Given the description of an element on the screen output the (x, y) to click on. 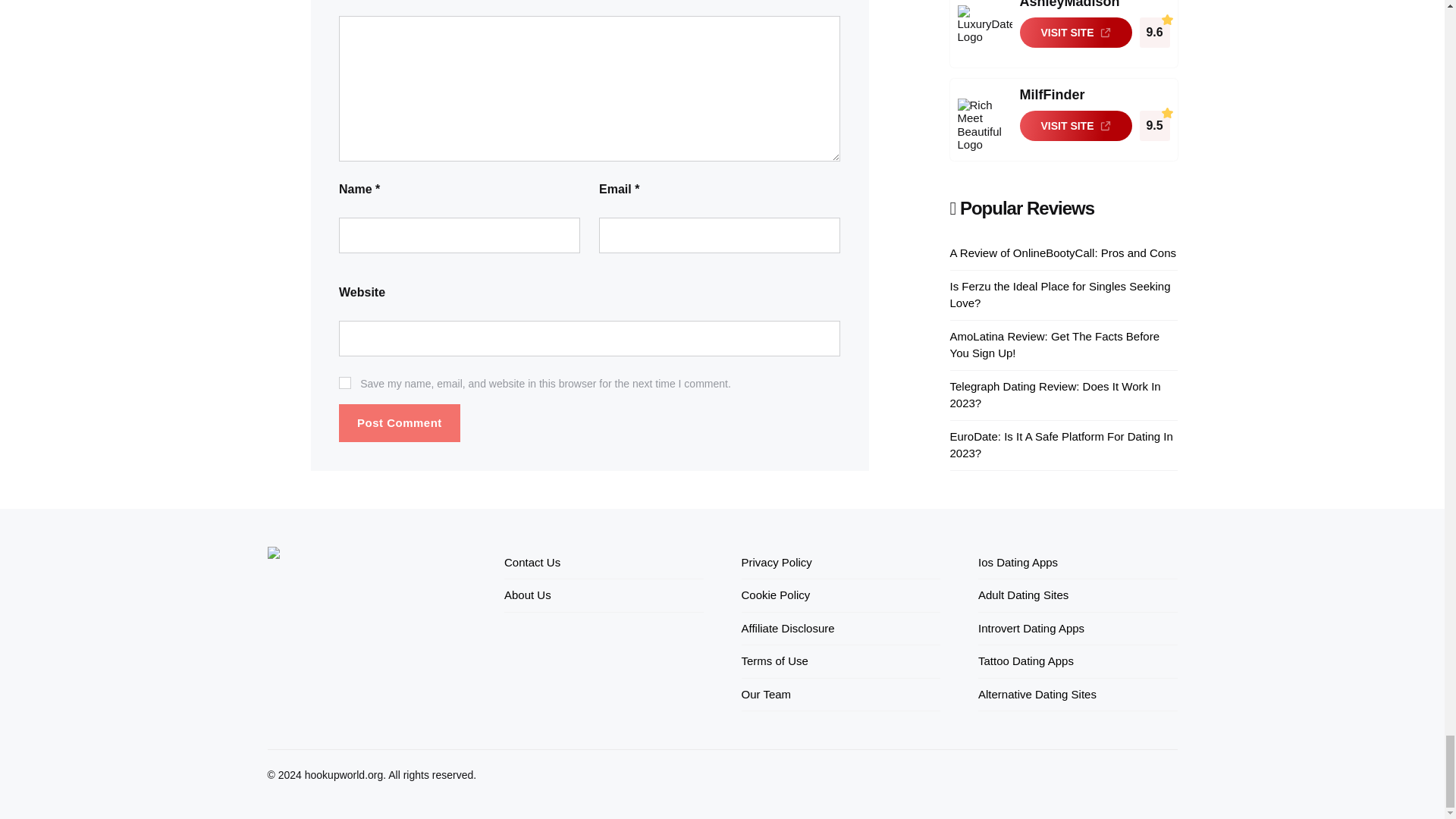
yes (344, 382)
Post Comment (399, 423)
